Given the description of an element on the screen output the (x, y) to click on. 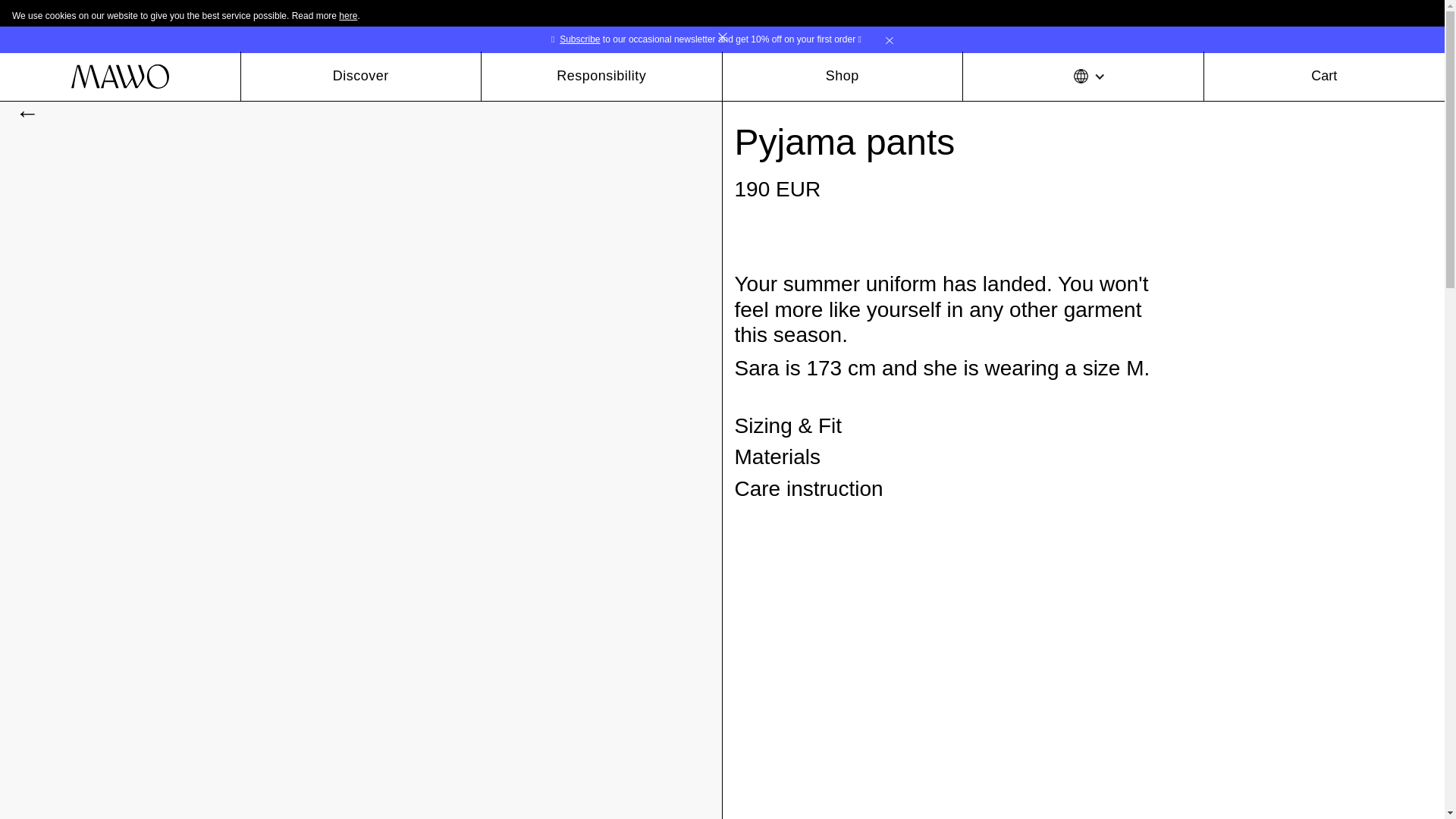
Shop (842, 75)
here (347, 15)
Subscribe (579, 39)
Discover (361, 75)
Responsibility (601, 75)
